Given the description of an element on the screen output the (x, y) to click on. 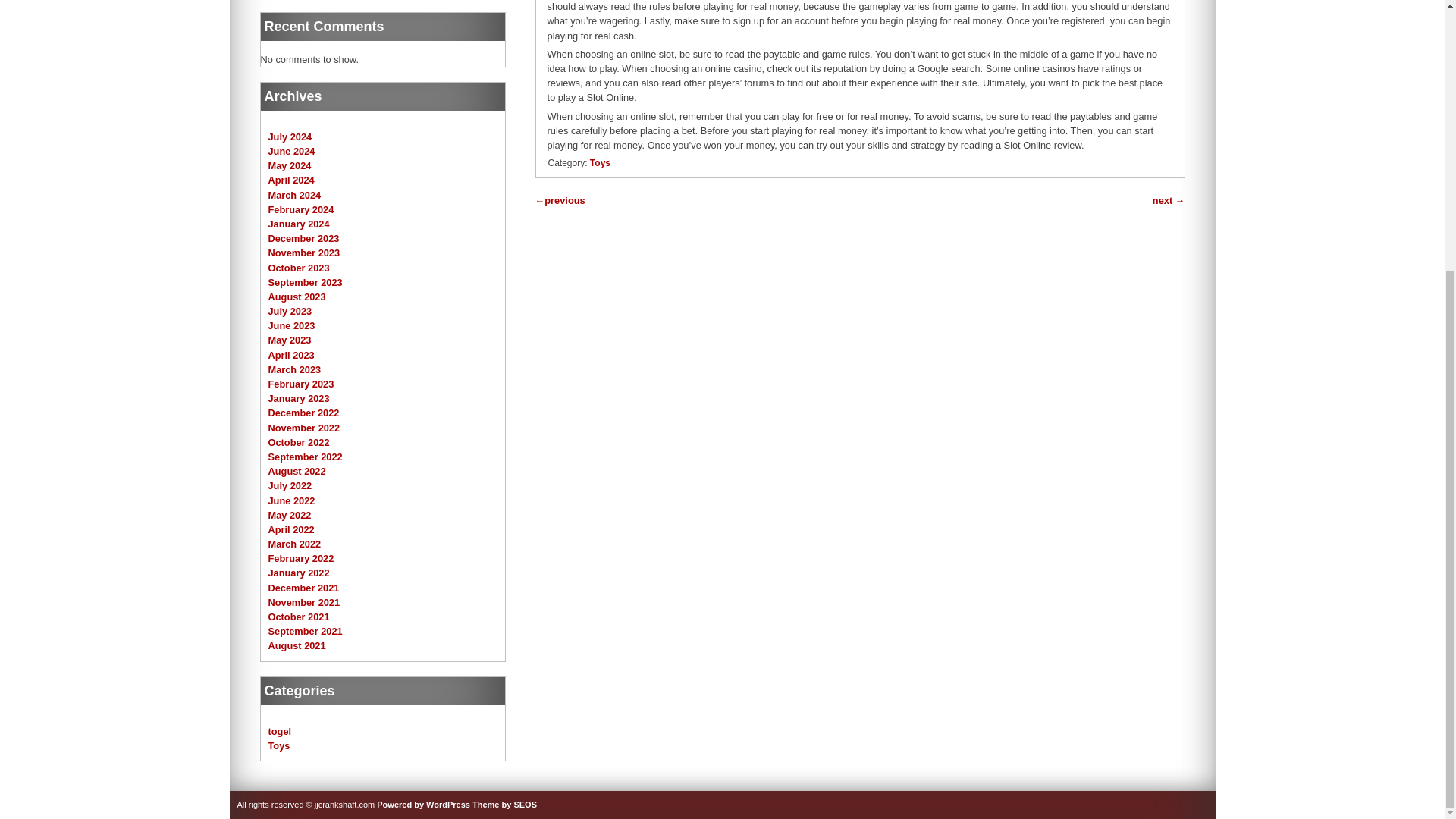
Toys (599, 163)
May 2024 (289, 165)
October 2022 (298, 441)
July 2023 (290, 310)
January 2023 (298, 398)
June 2023 (291, 325)
August 2023 (296, 296)
September 2023 (304, 282)
May 2023 (289, 339)
April 2024 (290, 179)
February 2023 (300, 383)
Seos free wordpress themes (504, 804)
December 2023 (303, 238)
December 2022 (303, 412)
August 2022 (296, 471)
